Given the description of an element on the screen output the (x, y) to click on. 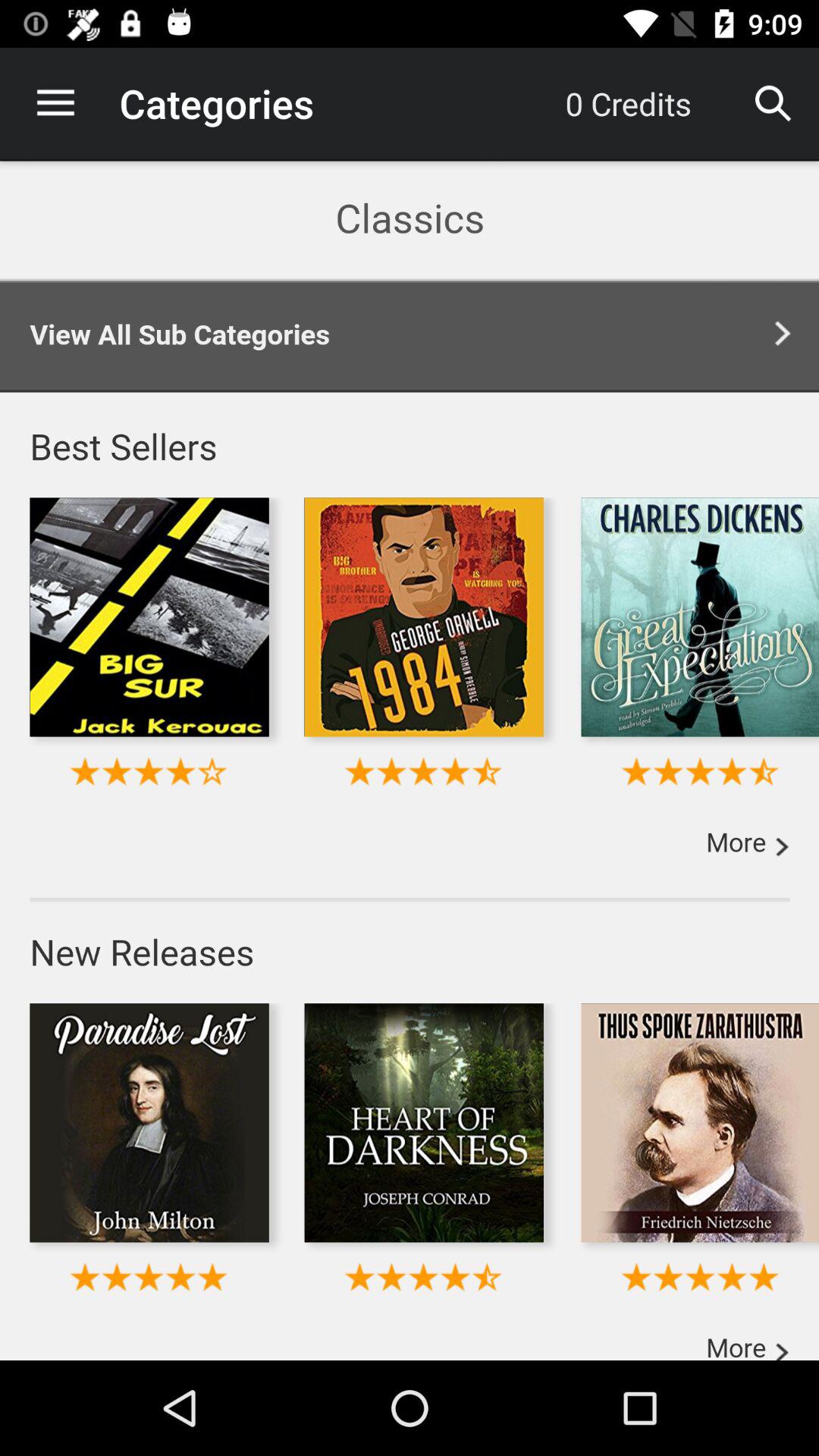
apps install (409, 759)
